Given the description of an element on the screen output the (x, y) to click on. 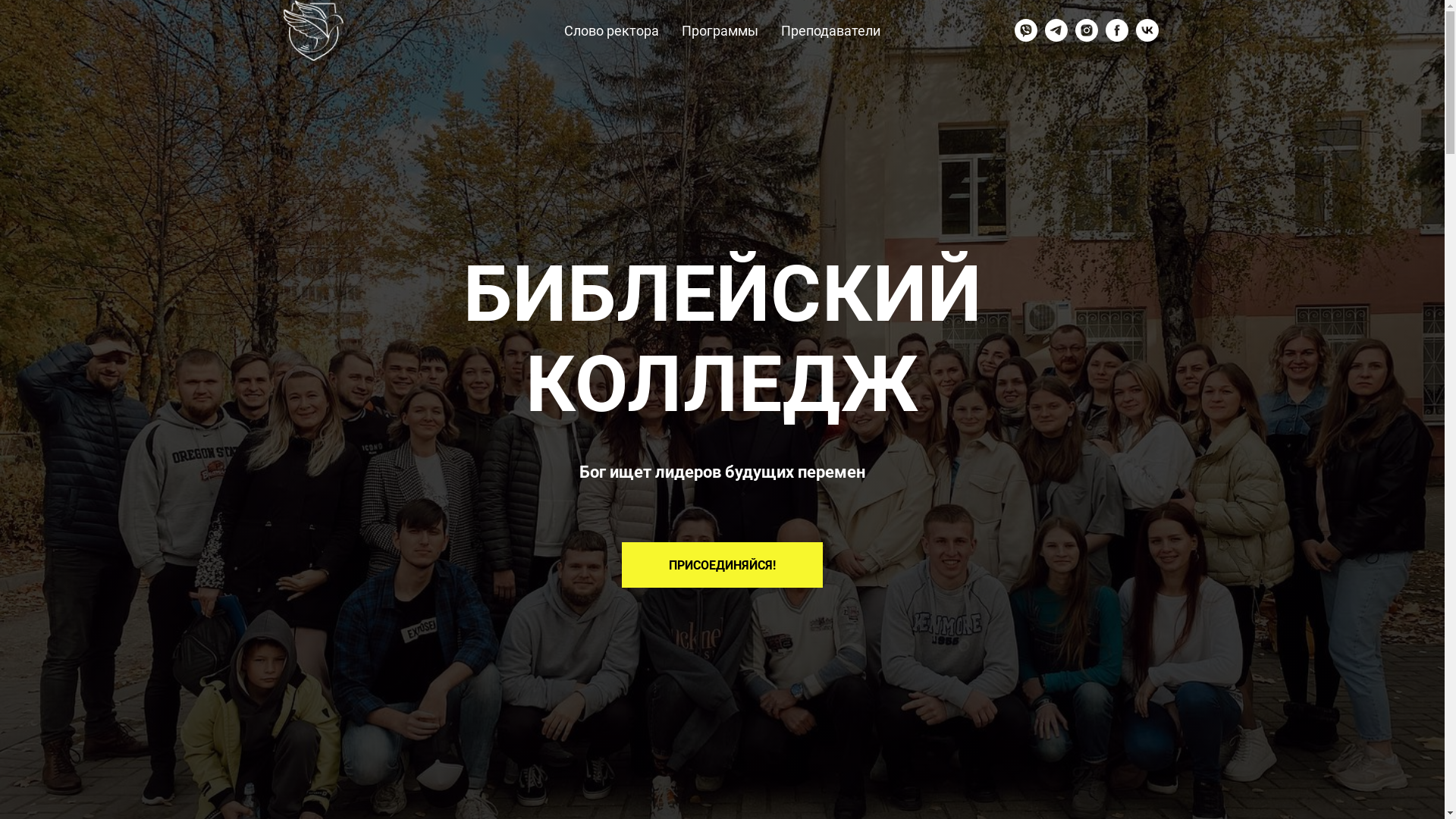
Facebook Element type: hover (1116, 29)
viber Element type: hover (1025, 29)
Instagram Element type: hover (1086, 29)
VK Element type: hover (1146, 29)
Telegram Element type: hover (1055, 29)
